Given the description of an element on the screen output the (x, y) to click on. 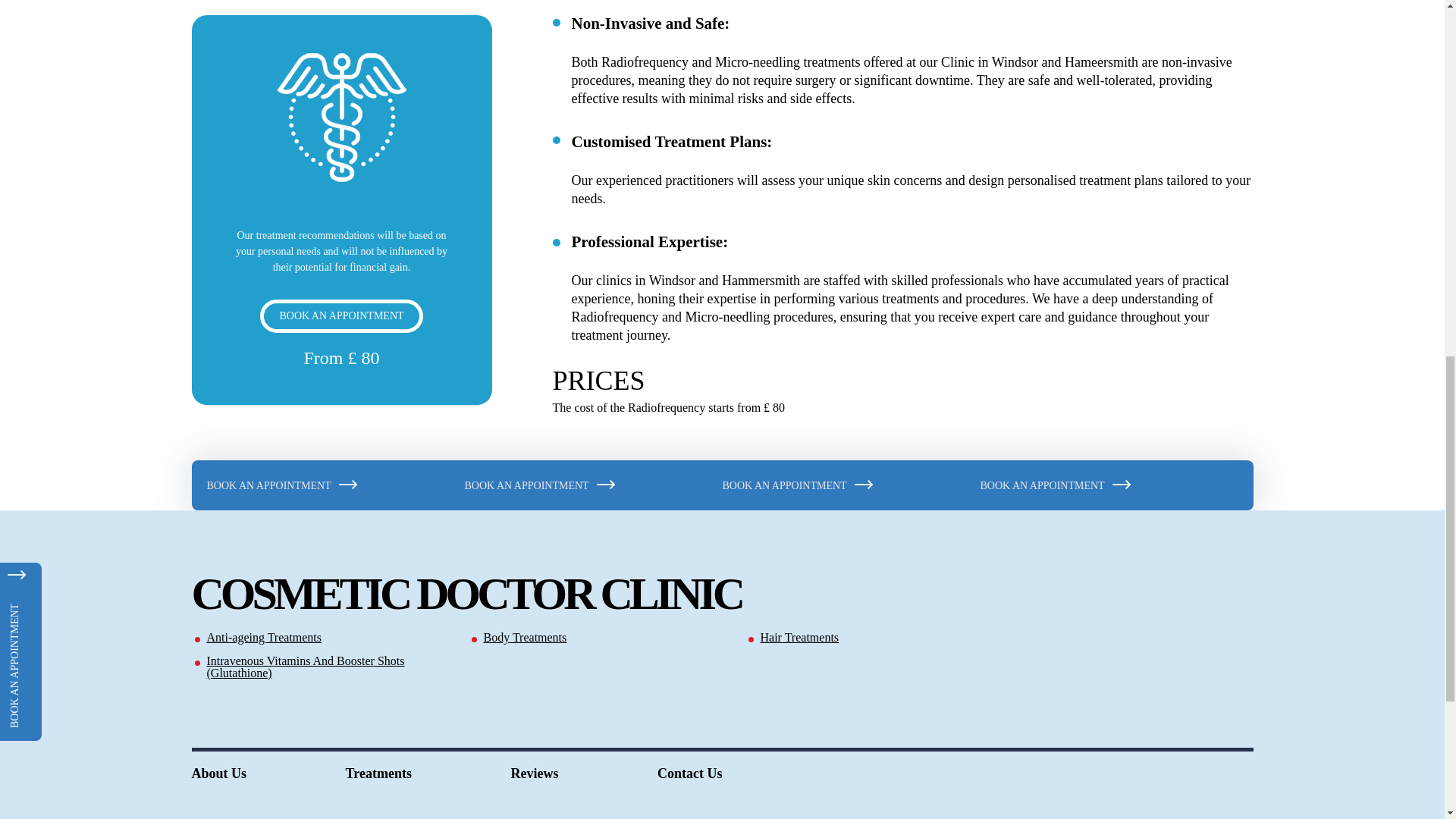
Treatments (379, 773)
Hair Treatments (879, 637)
About Us (218, 773)
Reviews (534, 773)
Contact Us (690, 773)
Anti-ageing Treatments (325, 637)
Body Treatments (602, 637)
